Given the description of an element on the screen output the (x, y) to click on. 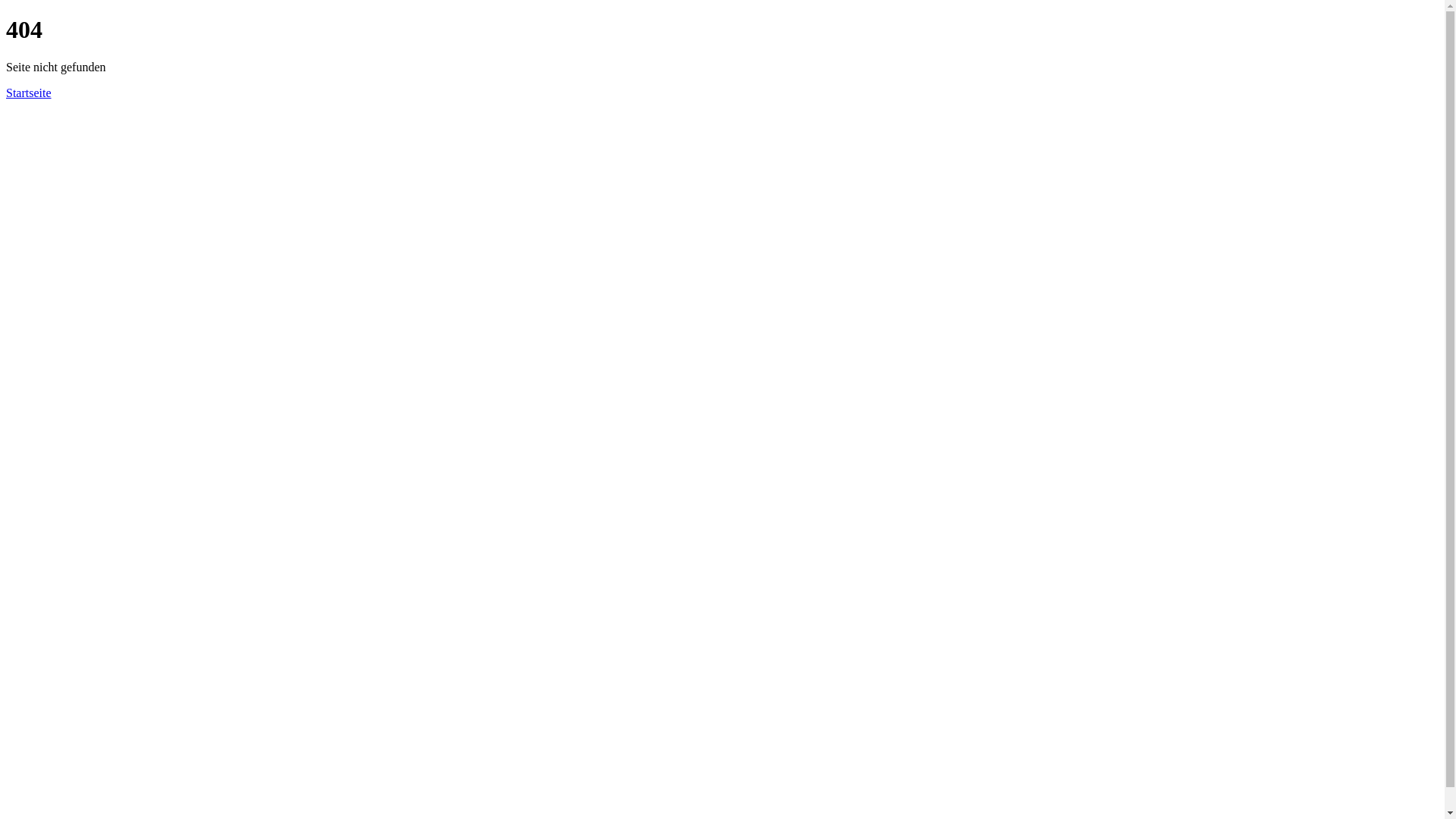
Startseite Element type: text (28, 92)
